Given the description of an element on the screen output the (x, y) to click on. 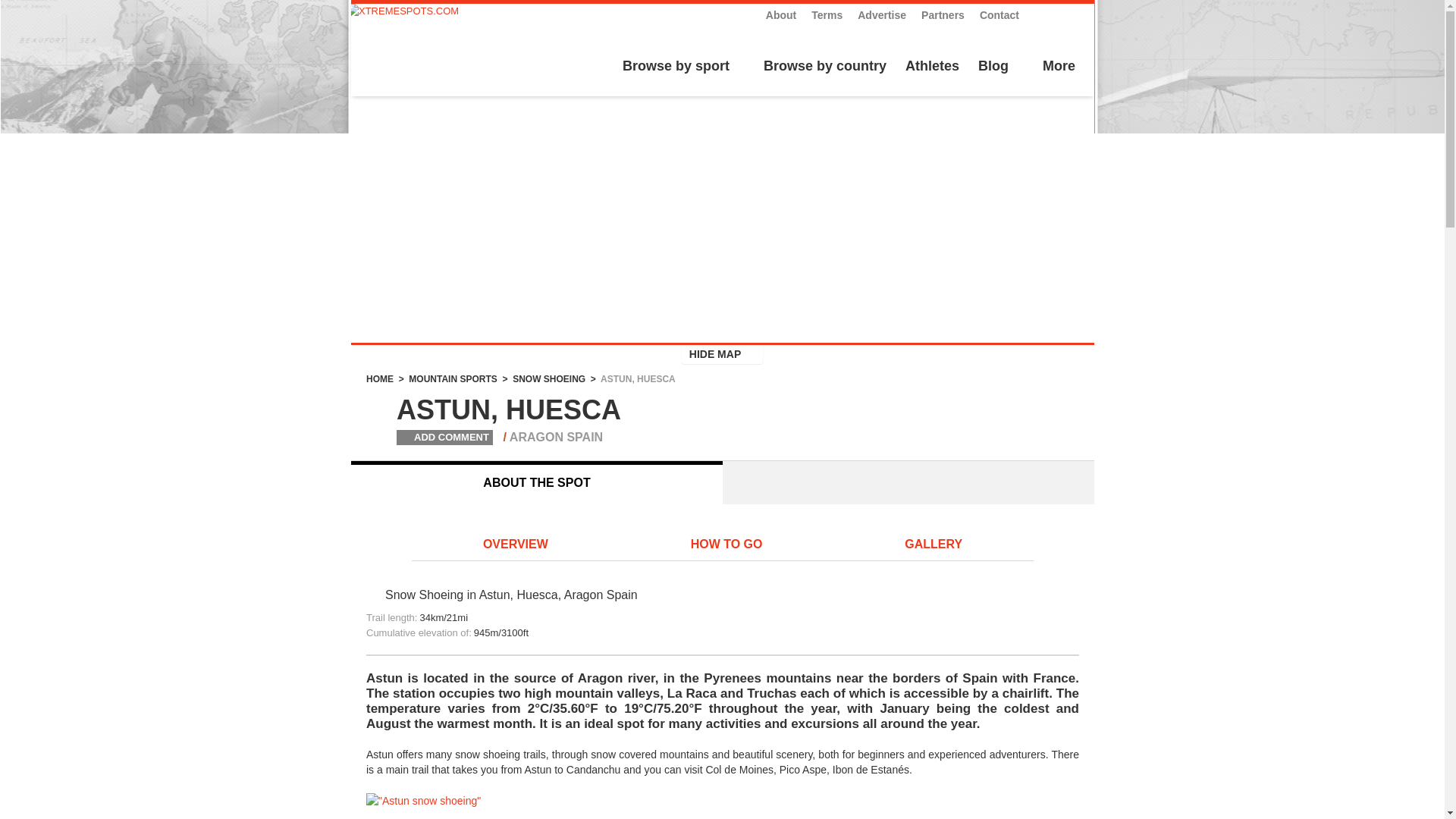
OVERVIEW (516, 545)
HOW TO GO (727, 545)
More (1056, 67)
Advertise (881, 15)
Partners (942, 15)
HOME (379, 378)
Contact (999, 15)
Terms (826, 15)
SNOW SHOEING (548, 378)
MOUNTAIN SPORTS (452, 378)
